Given the description of an element on the screen output the (x, y) to click on. 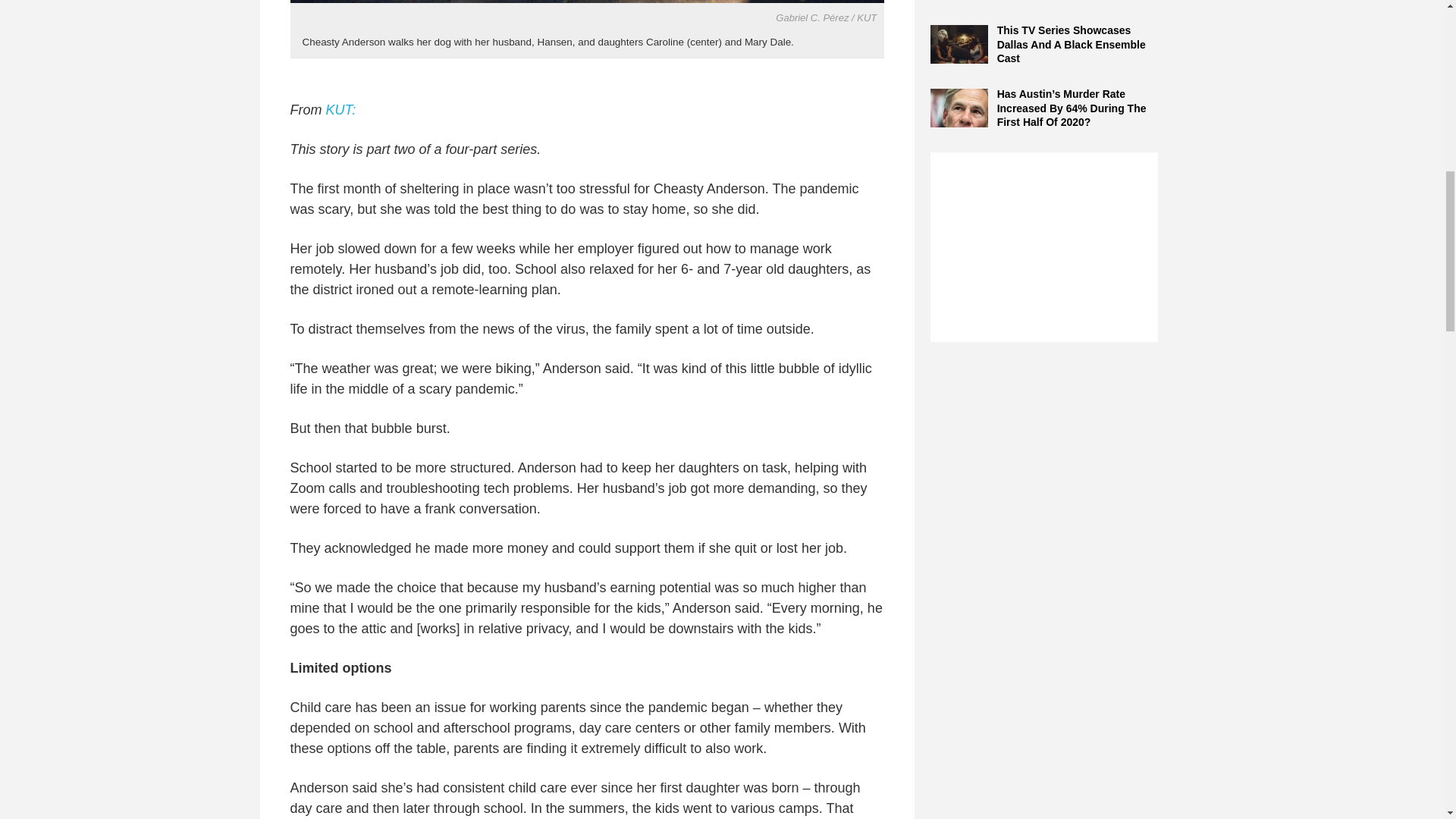
3rd party ad content (1043, 247)
